Given the description of an element on the screen output the (x, y) to click on. 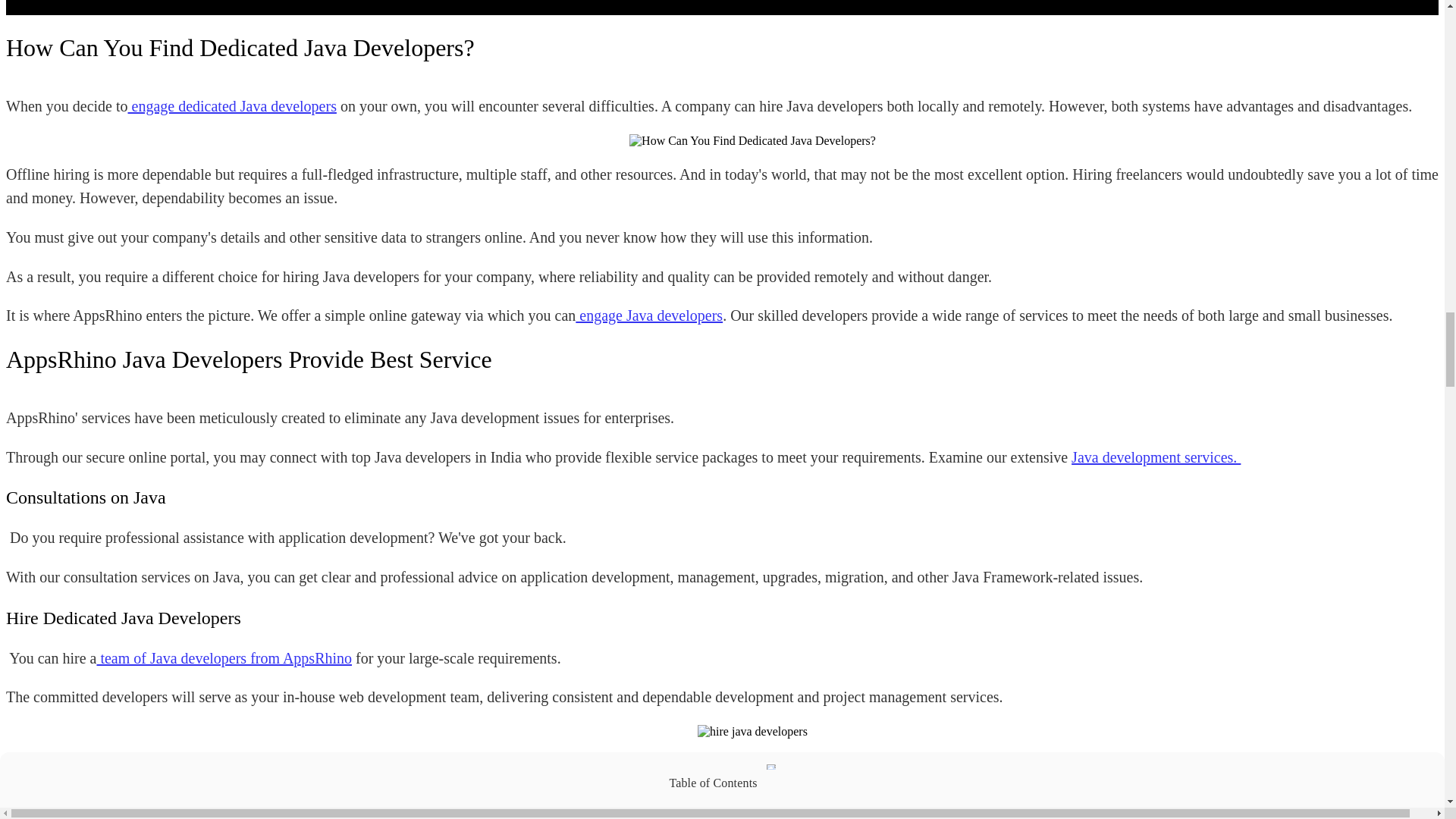
Java development services.  (1155, 457)
team of Java developers from AppsRhino (224, 658)
engage dedicated Java developers (232, 105)
engage Java developers (648, 315)
